Given the description of an element on the screen output the (x, y) to click on. 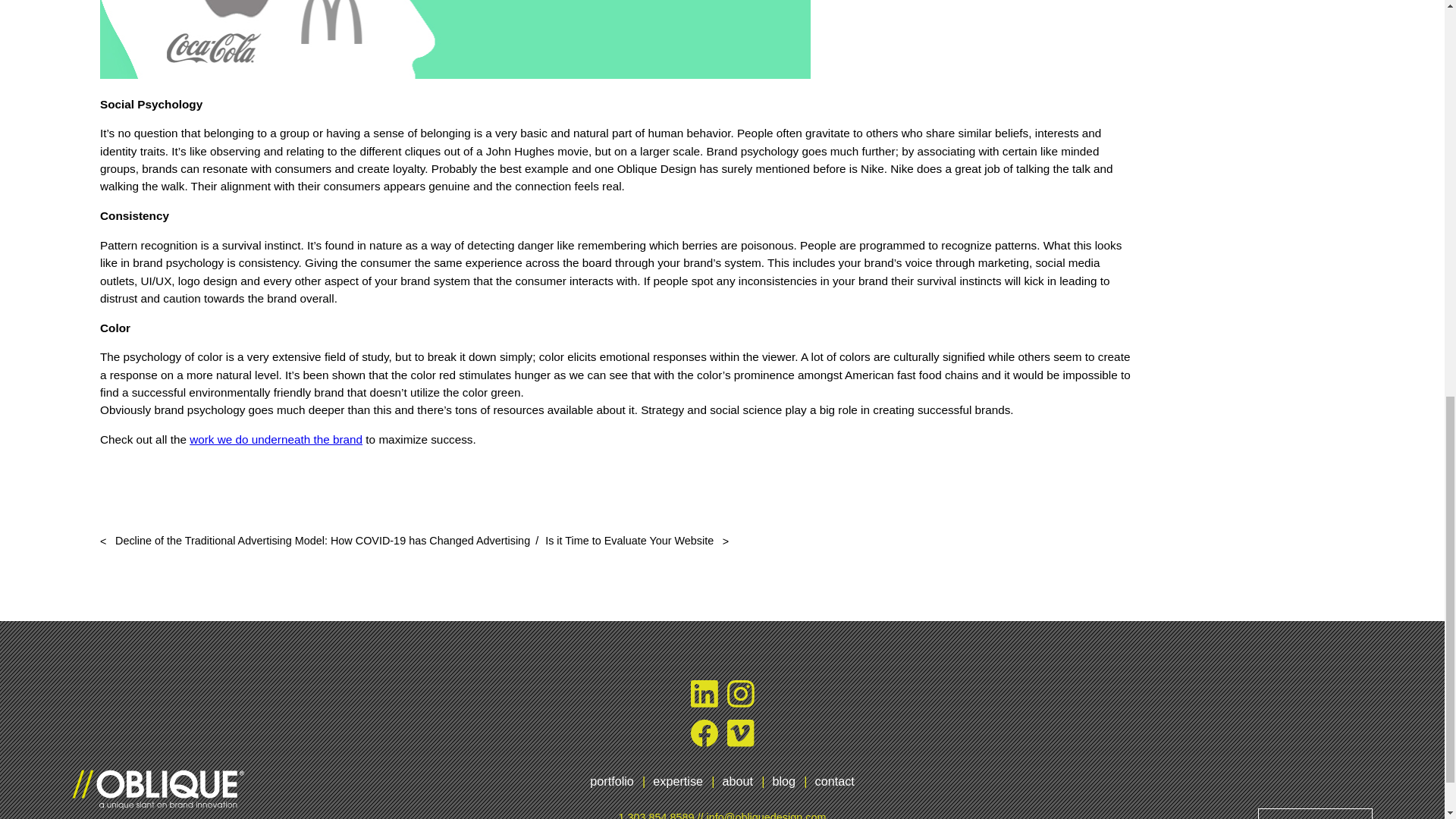
1.303.854.8589 (656, 813)
work we do underneath the brand (275, 439)
portfolio (611, 781)
Is it Time to Evaluate Your Website (636, 540)
